Given the description of an element on the screen output the (x, y) to click on. 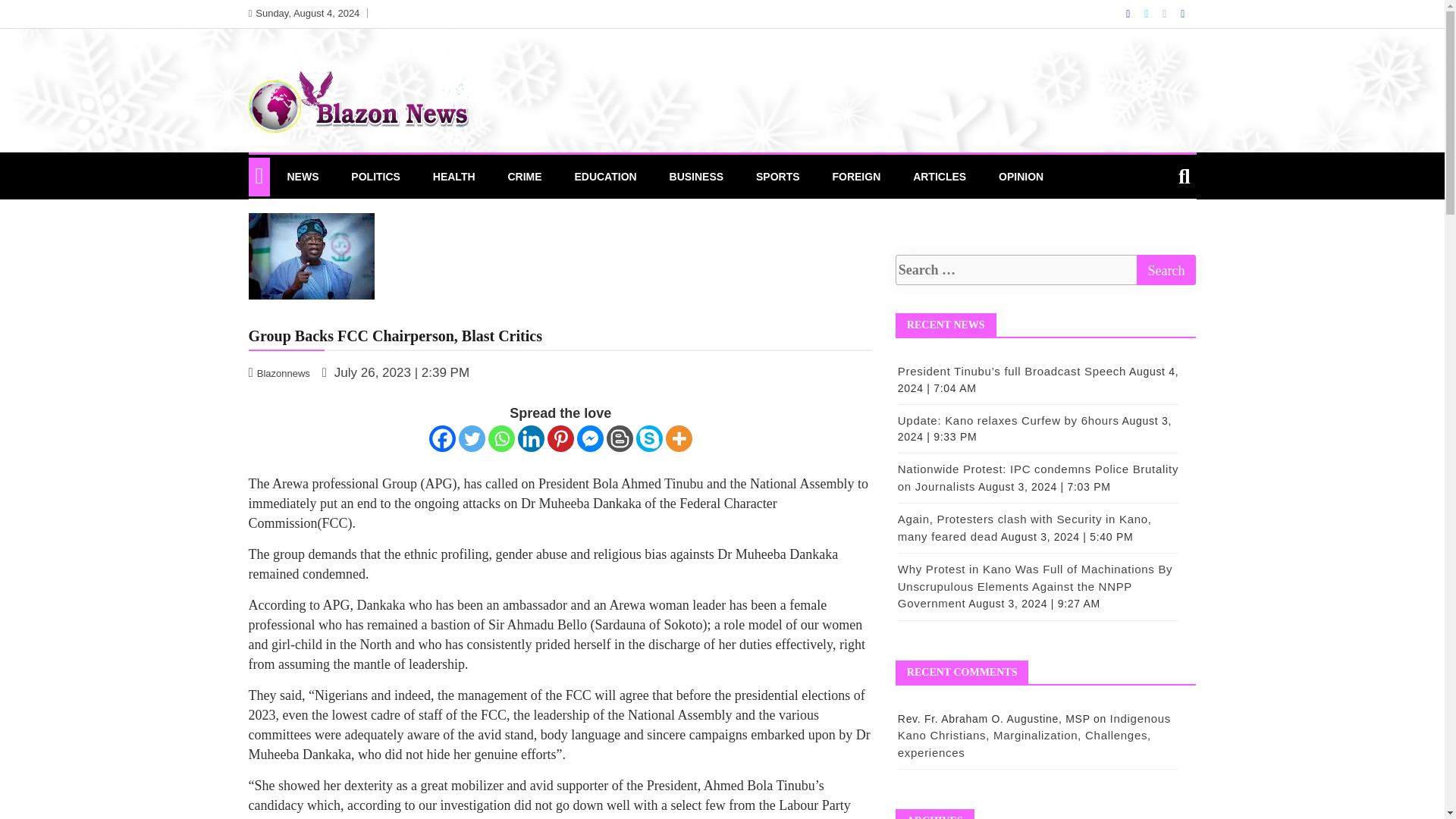
Pinterest (560, 438)
NEWS (302, 176)
Blazon News Nigeria (322, 172)
Facebook (442, 438)
Skype (649, 438)
OPINION (1020, 176)
EDUCATION (604, 176)
FOREIGN (856, 176)
HEALTH (454, 176)
ARTICLES (938, 176)
Search (1165, 269)
Search (1165, 269)
More (679, 438)
Facebook Messenger (590, 438)
Blazonnews (280, 372)
